Given the description of an element on the screen output the (x, y) to click on. 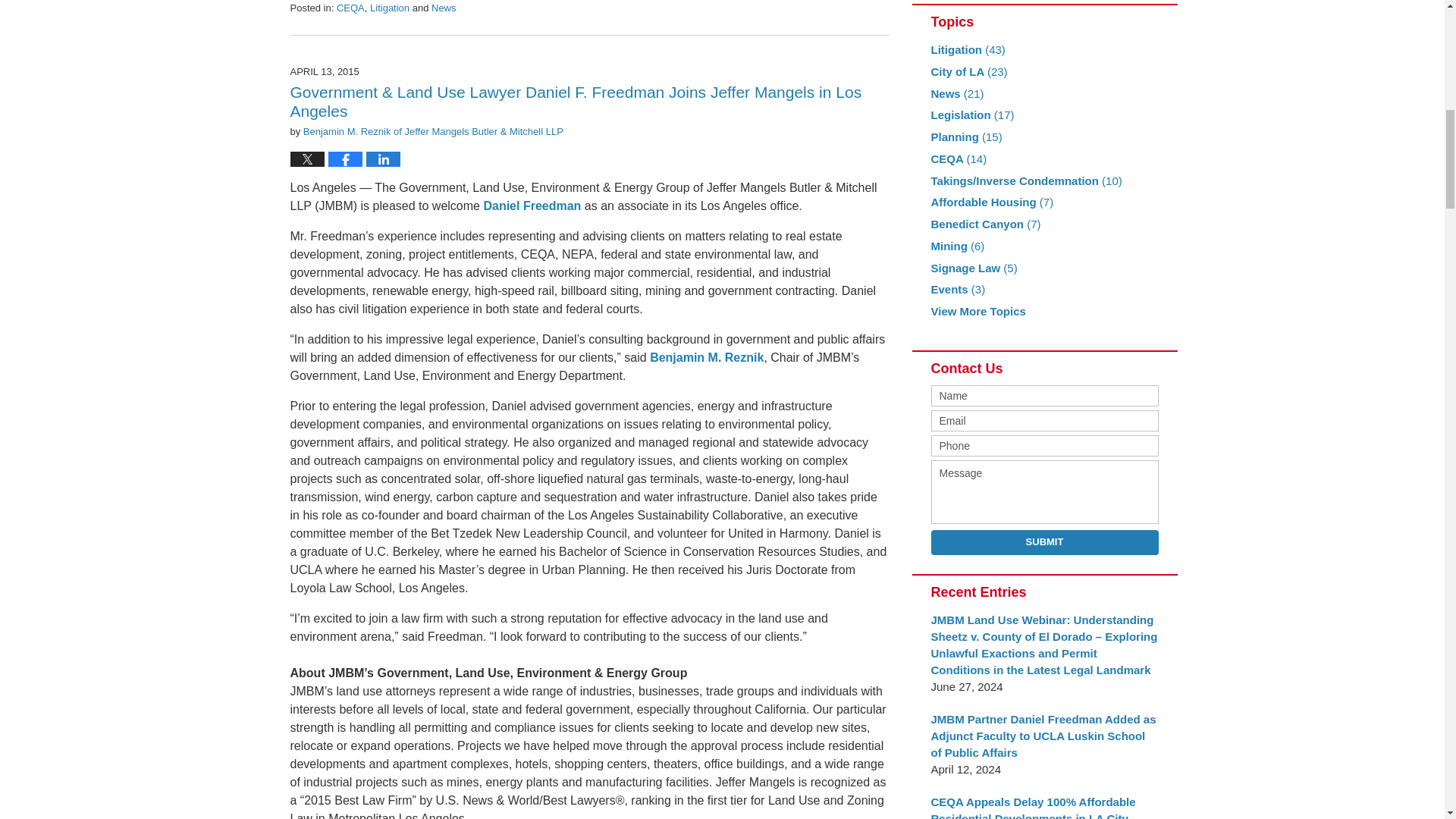
Benjamin M. Reznik (705, 357)
Daniel Freedman (531, 205)
View all posts in News (443, 7)
Litigation (389, 7)
CEQA (350, 7)
View all posts in Litigation (389, 7)
News (443, 7)
View all posts in CEQA (350, 7)
